Given the description of an element on the screen output the (x, y) to click on. 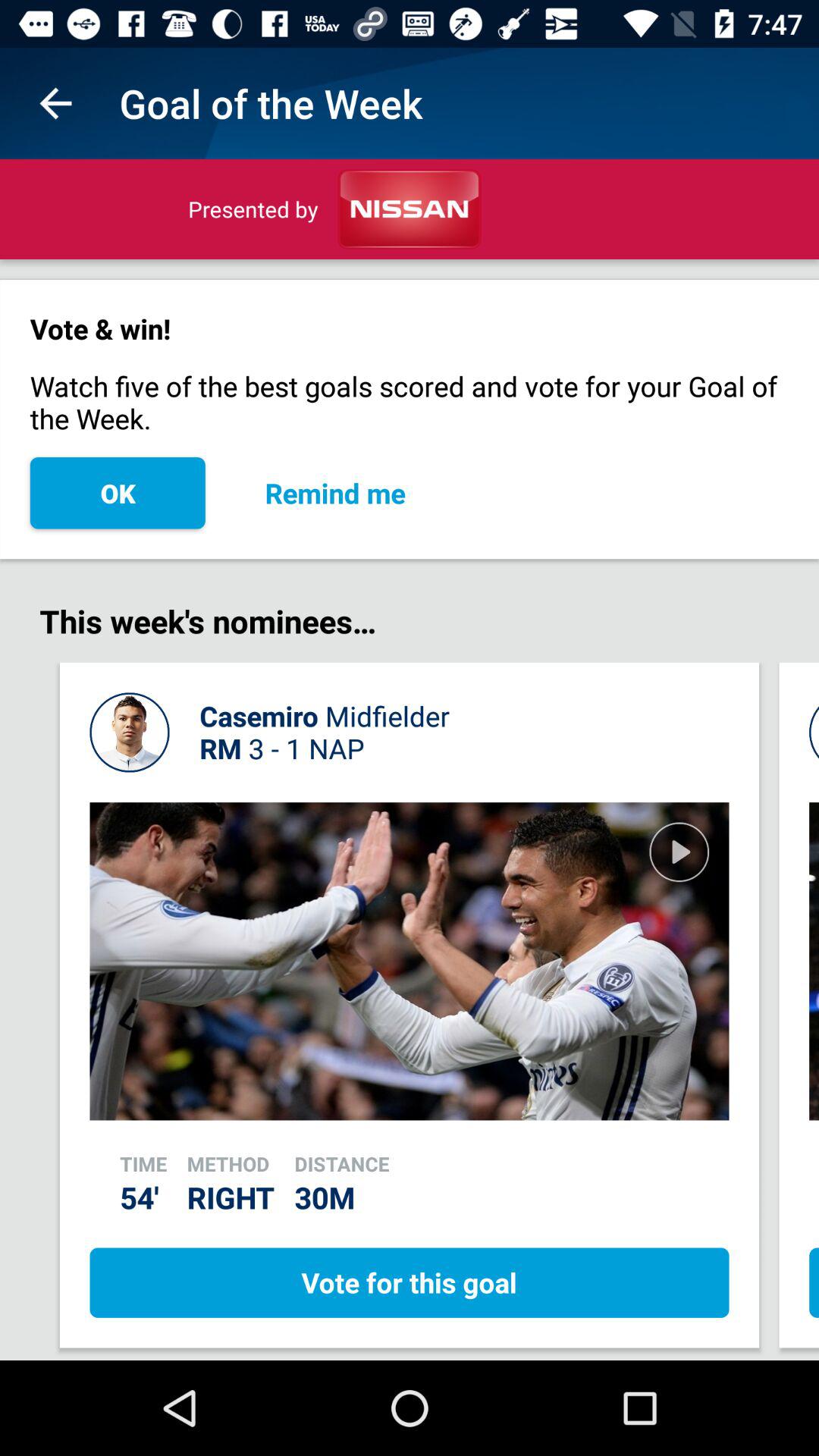
launch icon above the this week s item (335, 492)
